Given the description of an element on the screen output the (x, y) to click on. 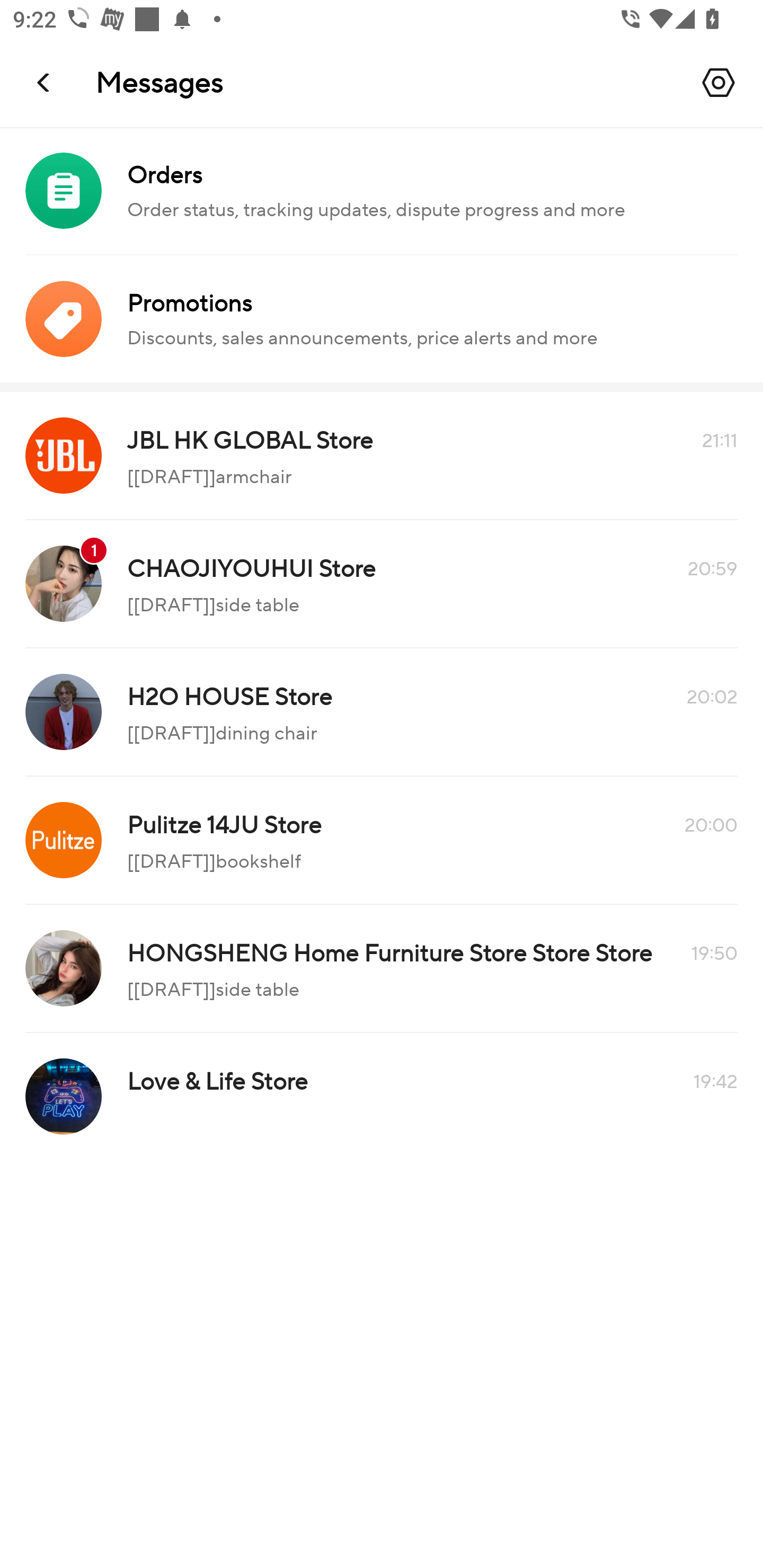
Navigate up (44, 82)
